Given the description of an element on the screen output the (x, y) to click on. 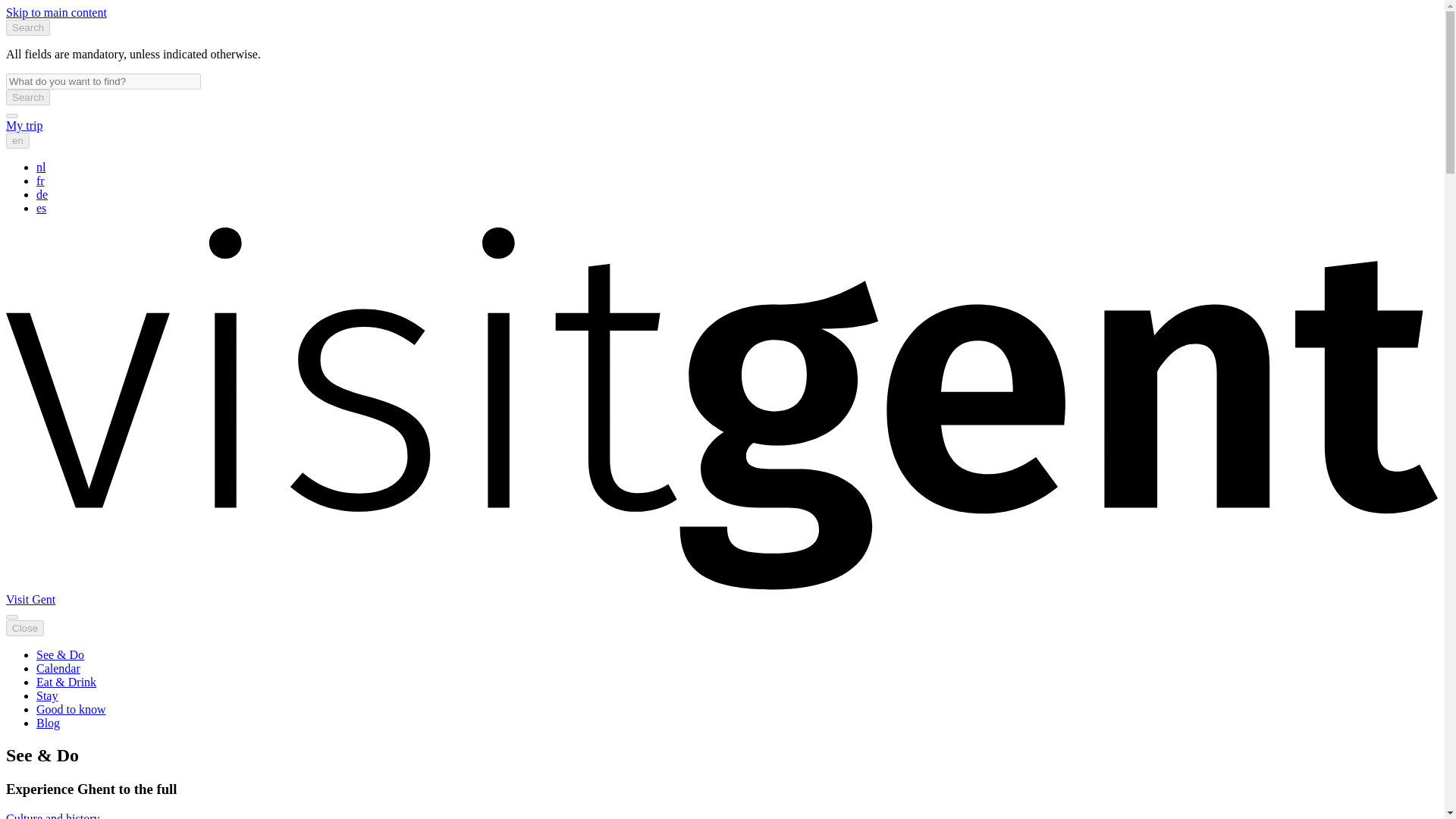
Skip to main content (55, 11)
Calendar (58, 667)
Close (24, 627)
My trip (23, 124)
Search (27, 97)
Menu (11, 617)
Blog (47, 722)
Search (27, 27)
Visit Gent (30, 599)
en (17, 140)
Close (24, 627)
Stay (47, 695)
Good to know (71, 708)
Home (30, 599)
Search (27, 97)
